Given the description of an element on the screen output the (x, y) to click on. 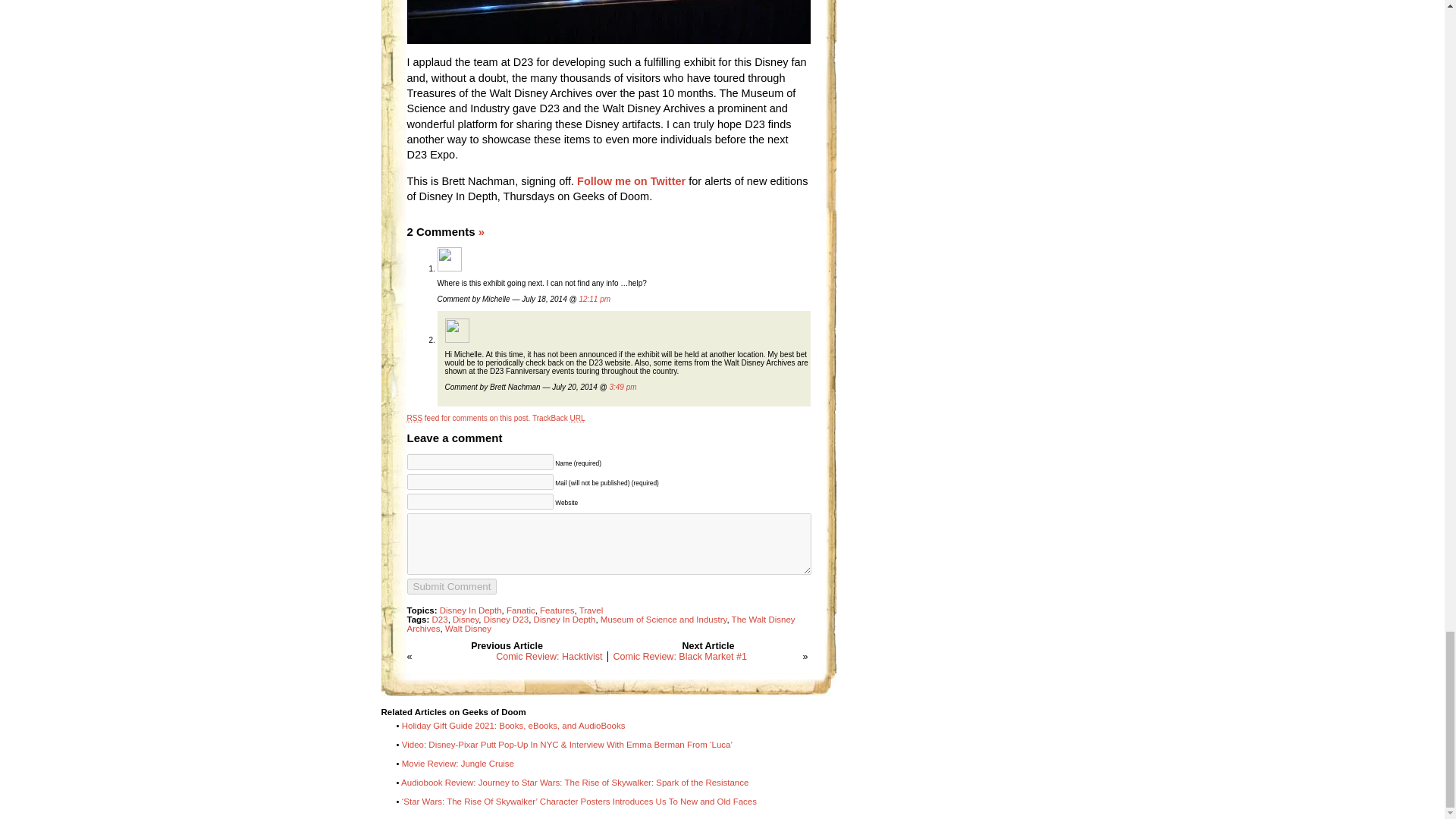
Museum of Science and Industry (662, 619)
Holiday Gift Guide 2021: Books, eBooks, and AudioBooks (513, 725)
Fanatic (520, 610)
D23 (440, 619)
Holiday Gift Guide 2021: Books, eBooks, and AudioBooks (513, 725)
Disney D23 (505, 619)
Disney In Depth (470, 610)
Travel (591, 610)
RSS feed for comments on this post. (467, 418)
Universal Resource Locator (577, 418)
